Given the description of an element on the screen output the (x, y) to click on. 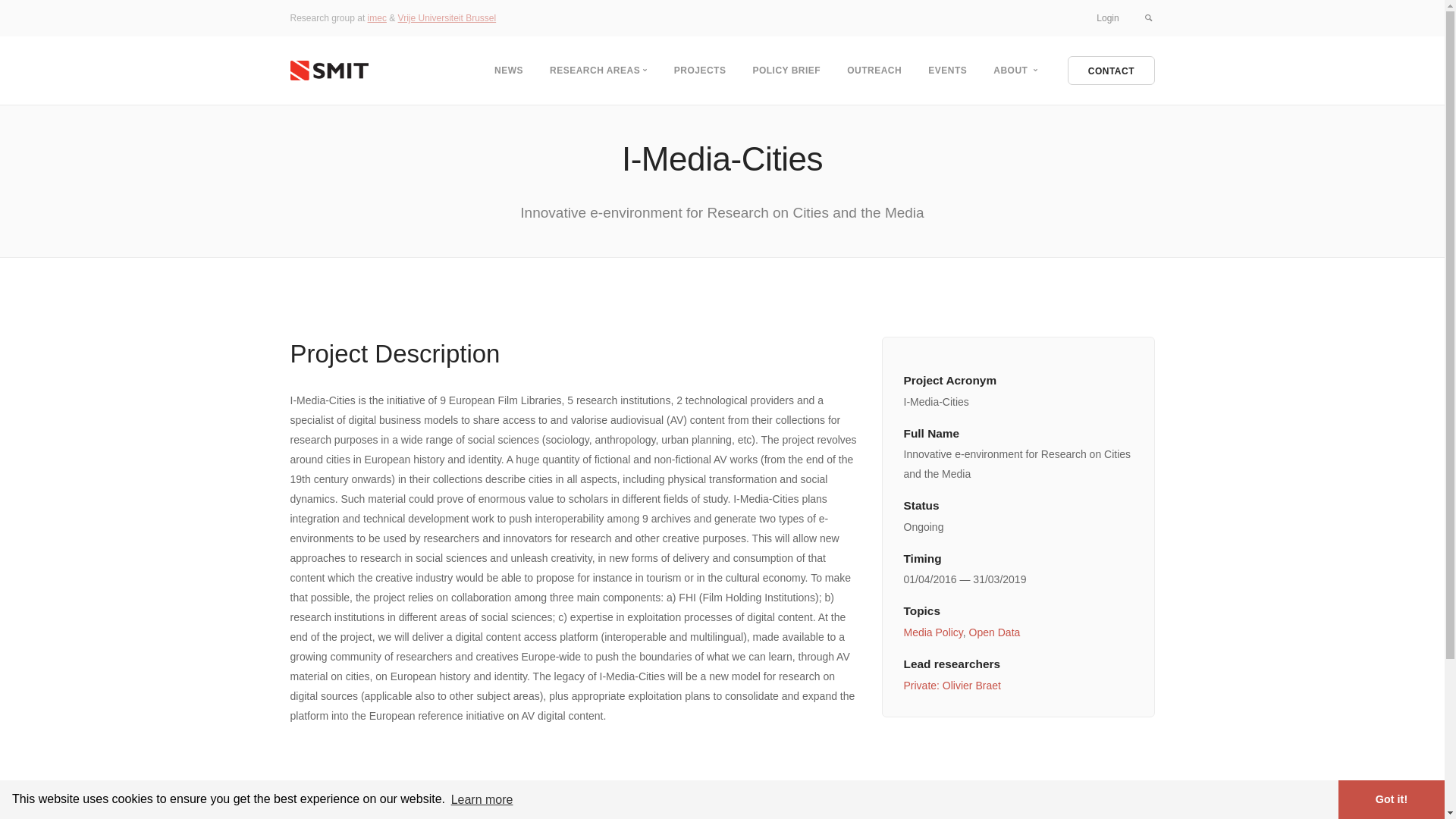
Private: Olivier Braet Element type: text (952, 685)
EVENTS Element type: text (947, 70)
PROJECTS Element type: text (700, 70)
Vrije Universiteit Brussel Element type: text (447, 17)
Open Data Element type: text (994, 632)
Media Policy Element type: text (933, 632)
Login Element type: text (1107, 17)
NEWS Element type: text (508, 70)
imec Element type: text (376, 17)
CONTACT Element type: text (1110, 70)
POLICY BRIEF Element type: text (786, 70)
Learn more Element type: text (481, 798)
OUTREACH Element type: text (874, 70)
